Given the description of an element on the screen output the (x, y) to click on. 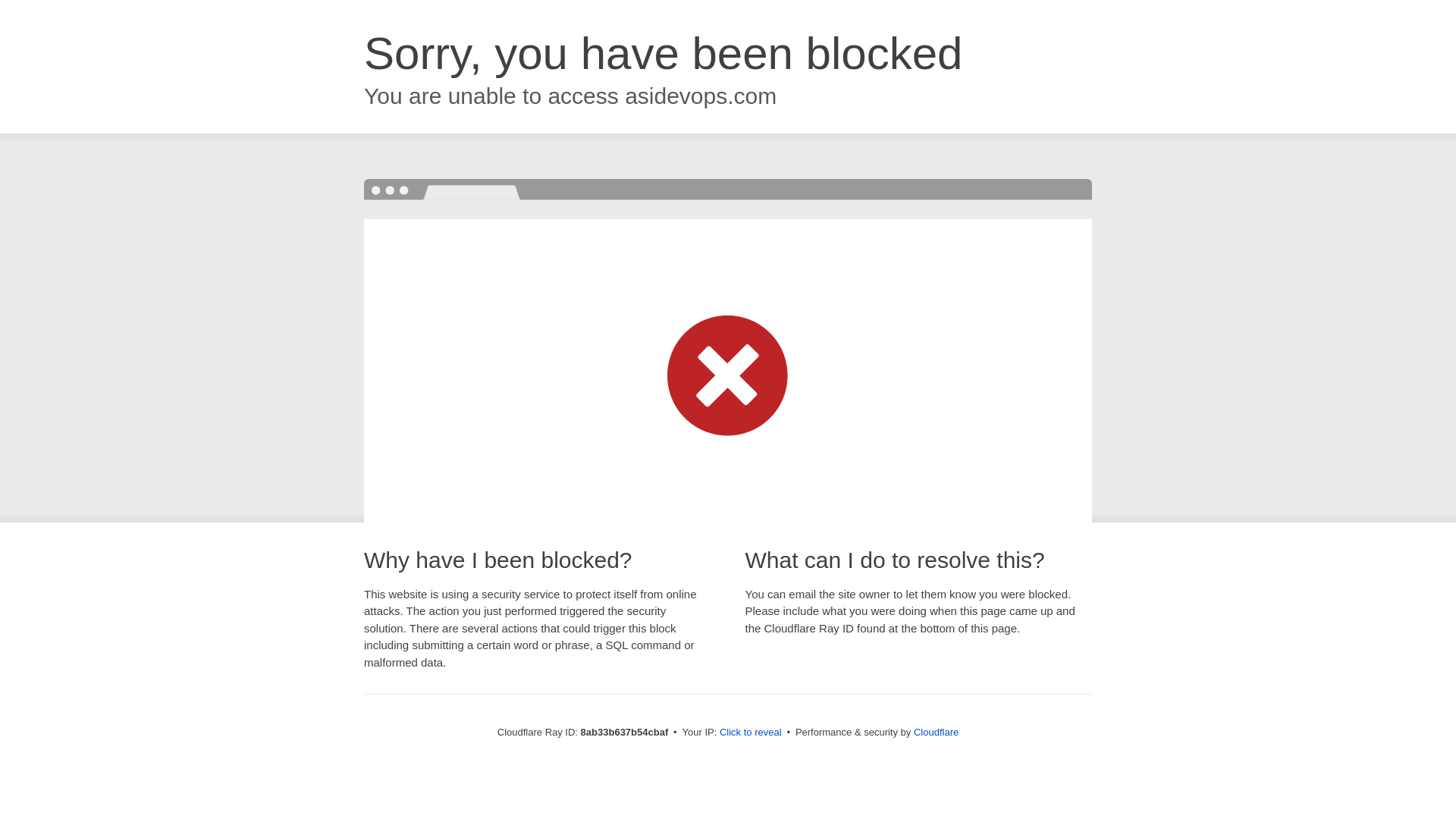
Cloudflare (936, 731)
Click to reveal (750, 732)
